Given the description of an element on the screen output the (x, y) to click on. 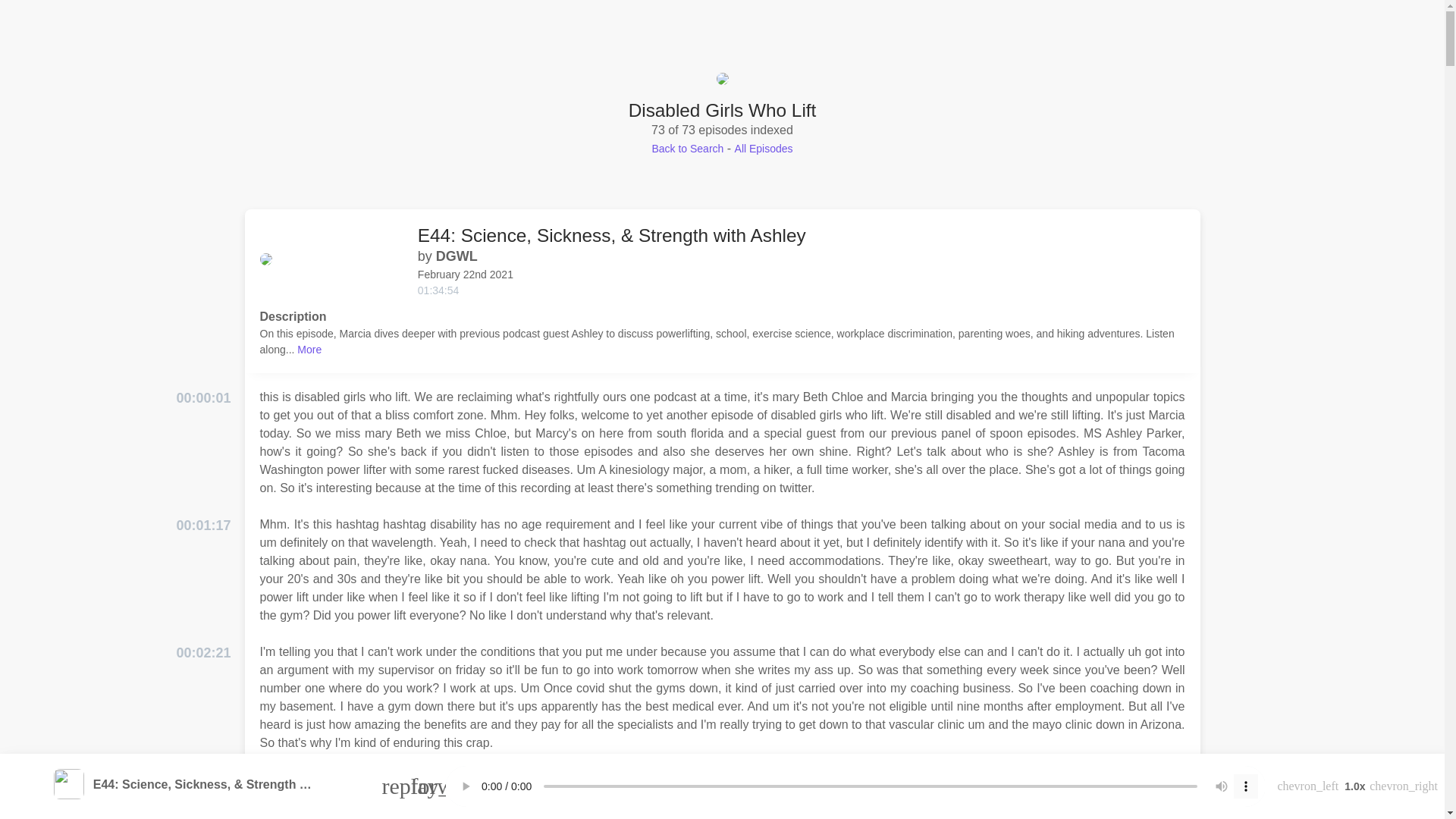
All Episodes (764, 148)
Back to Search (686, 148)
More (309, 349)
00:00:01 (203, 398)
00:01:17 (203, 525)
00:03:26 (203, 780)
00:02:21 (203, 652)
